Given the description of an element on the screen output the (x, y) to click on. 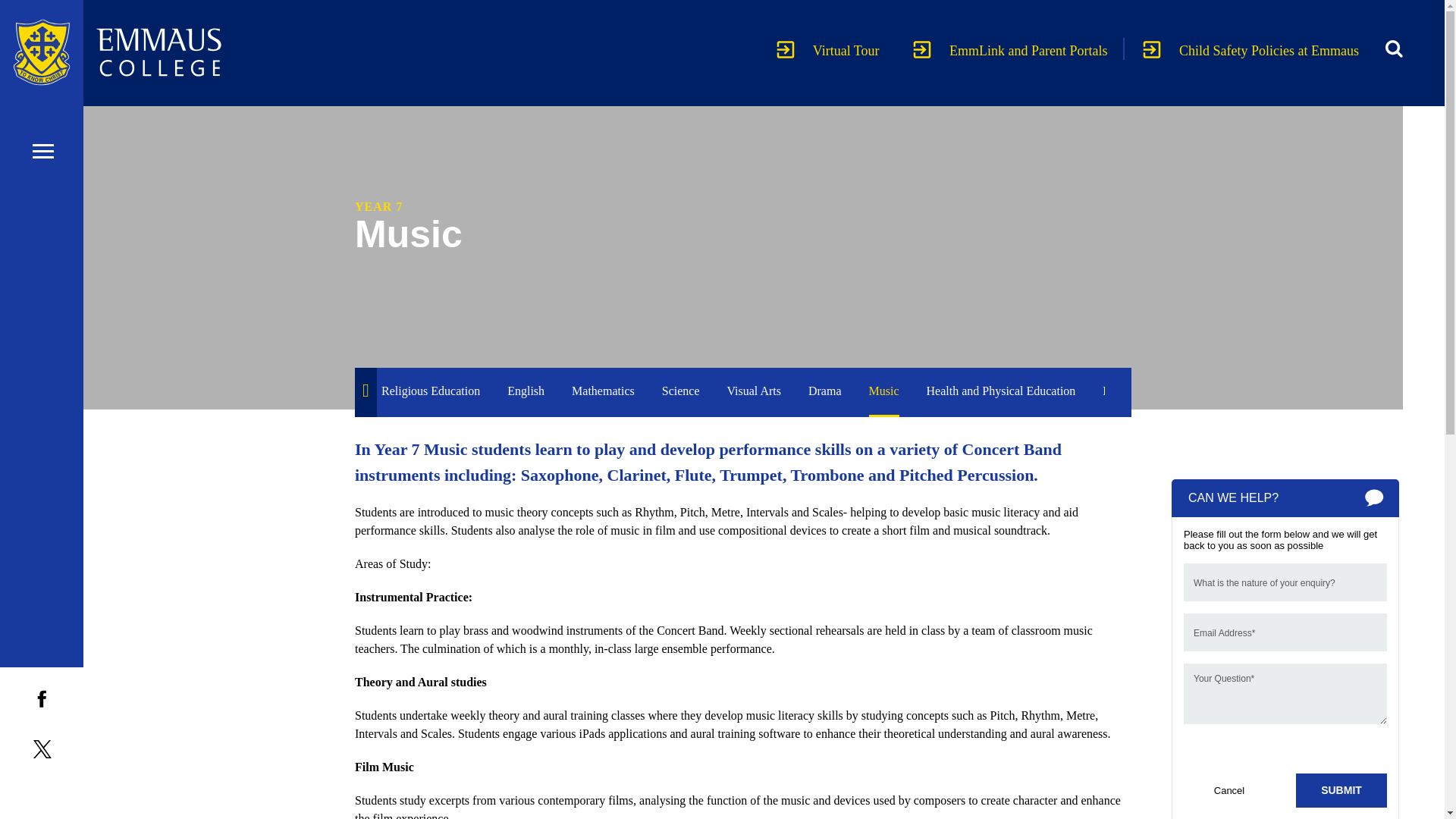
Created with Sketch. EmmLink and Parent Portals (1012, 51)
Created with Sketch. Virtual Tour (829, 51)
Created with Sketch. (785, 49)
Created with Sketch. Child Safety Policies at Emmaus (1250, 51)
Created with Sketch. (1374, 497)
Created with Sketch. (1394, 48)
Created with Sketch. (1151, 49)
Created with Sketch. (921, 49)
